Given the description of an element on the screen output the (x, y) to click on. 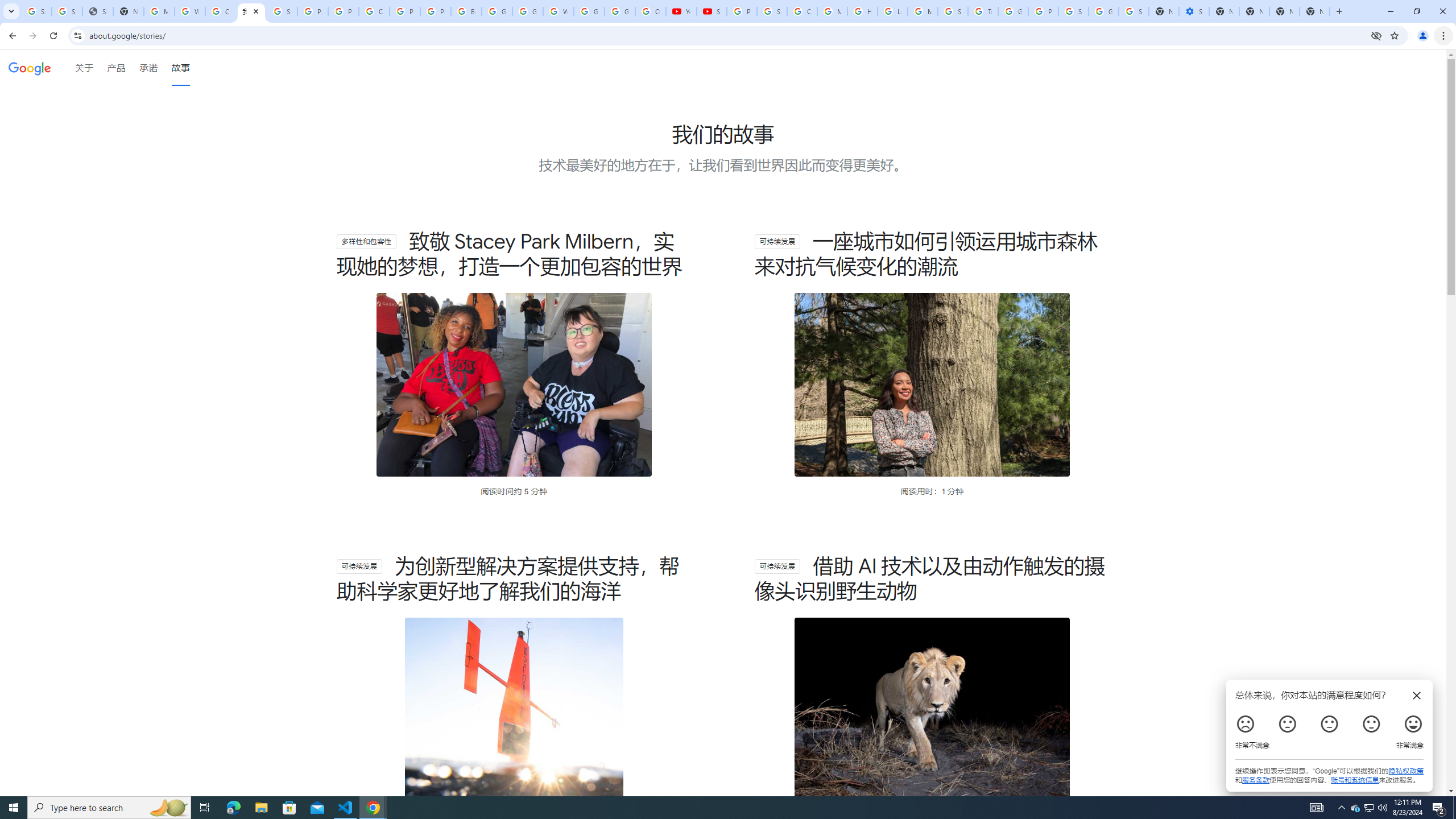
Sign In - USA TODAY (97, 11)
Sign in - Google Accounts (282, 11)
Google Account (619, 11)
YouTube (681, 11)
